Given the description of an element on the screen output the (x, y) to click on. 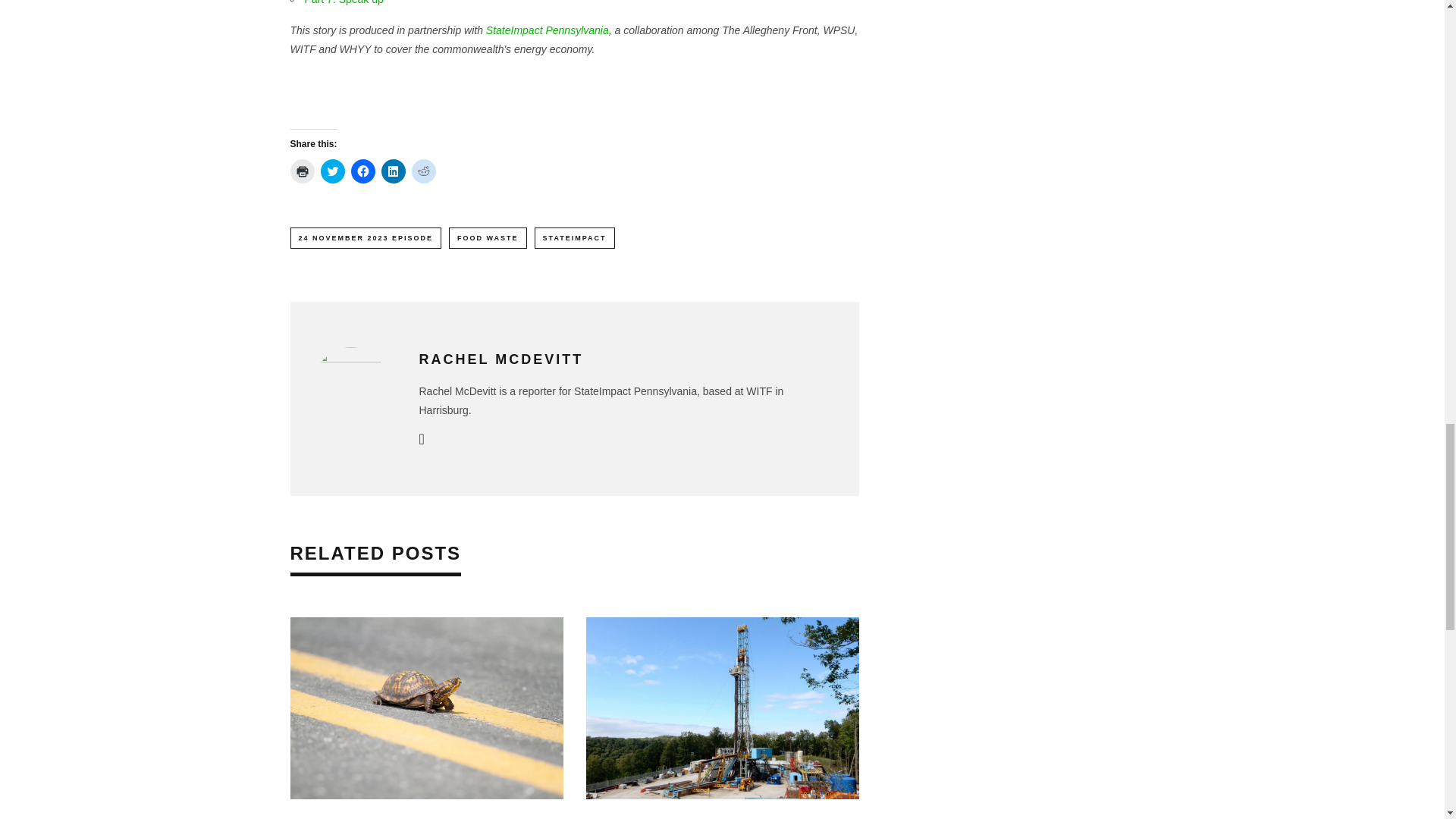
Click to share on LinkedIn (392, 170)
Click to print (301, 170)
Click to share on Reddit (422, 170)
Click to share on Facebook (362, 170)
Click to share on Twitter (331, 170)
